Given the description of an element on the screen output the (x, y) to click on. 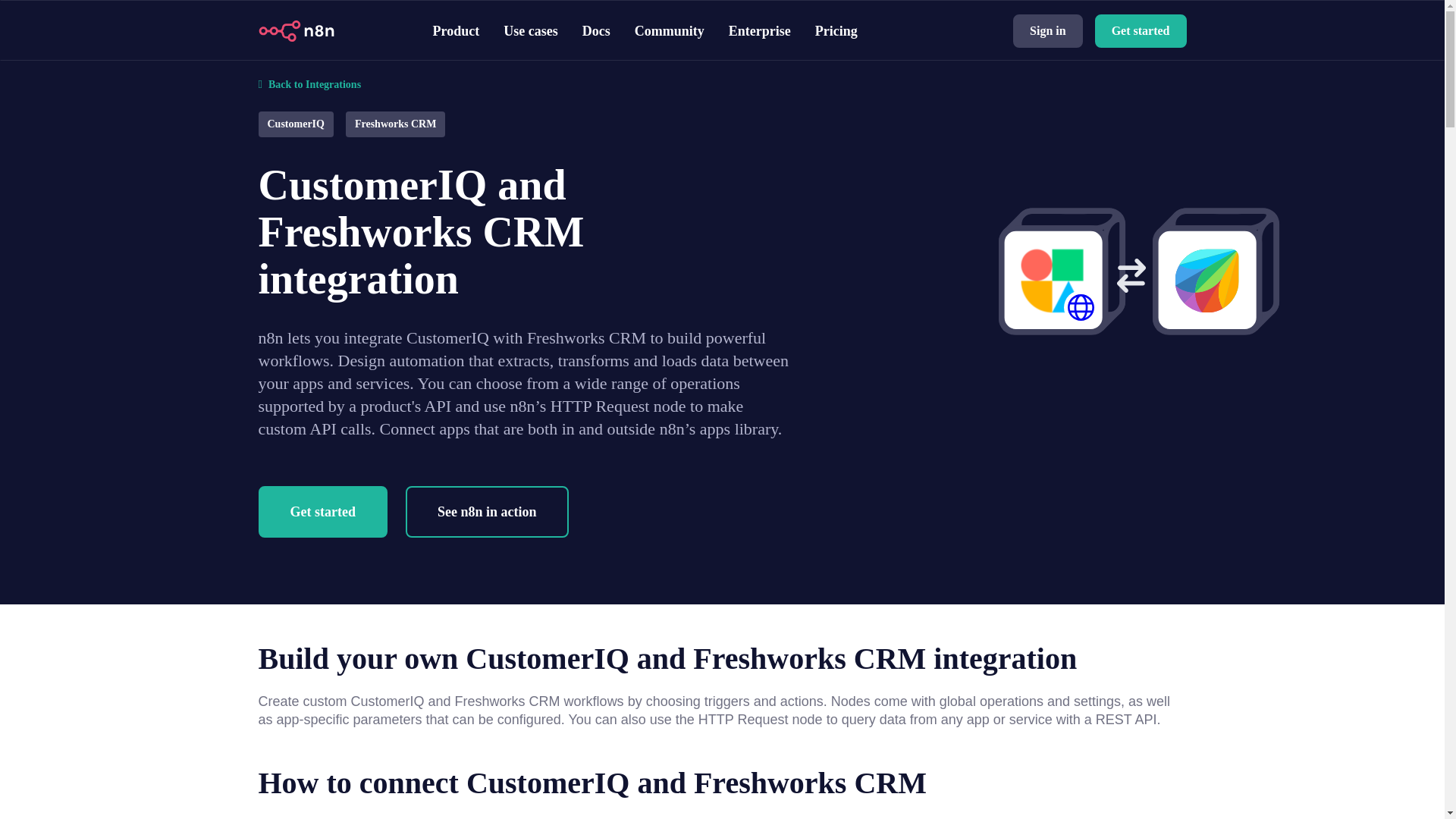
See n8n in action (487, 511)
CustomerIQ (294, 123)
Sign in (1048, 30)
Freshworks CRM (395, 123)
Back to Integrations (721, 74)
Enterprise (759, 31)
Get started (1140, 30)
Docs (596, 31)
Product (455, 31)
Pricing (836, 31)
Get started (322, 511)
